Given the description of an element on the screen output the (x, y) to click on. 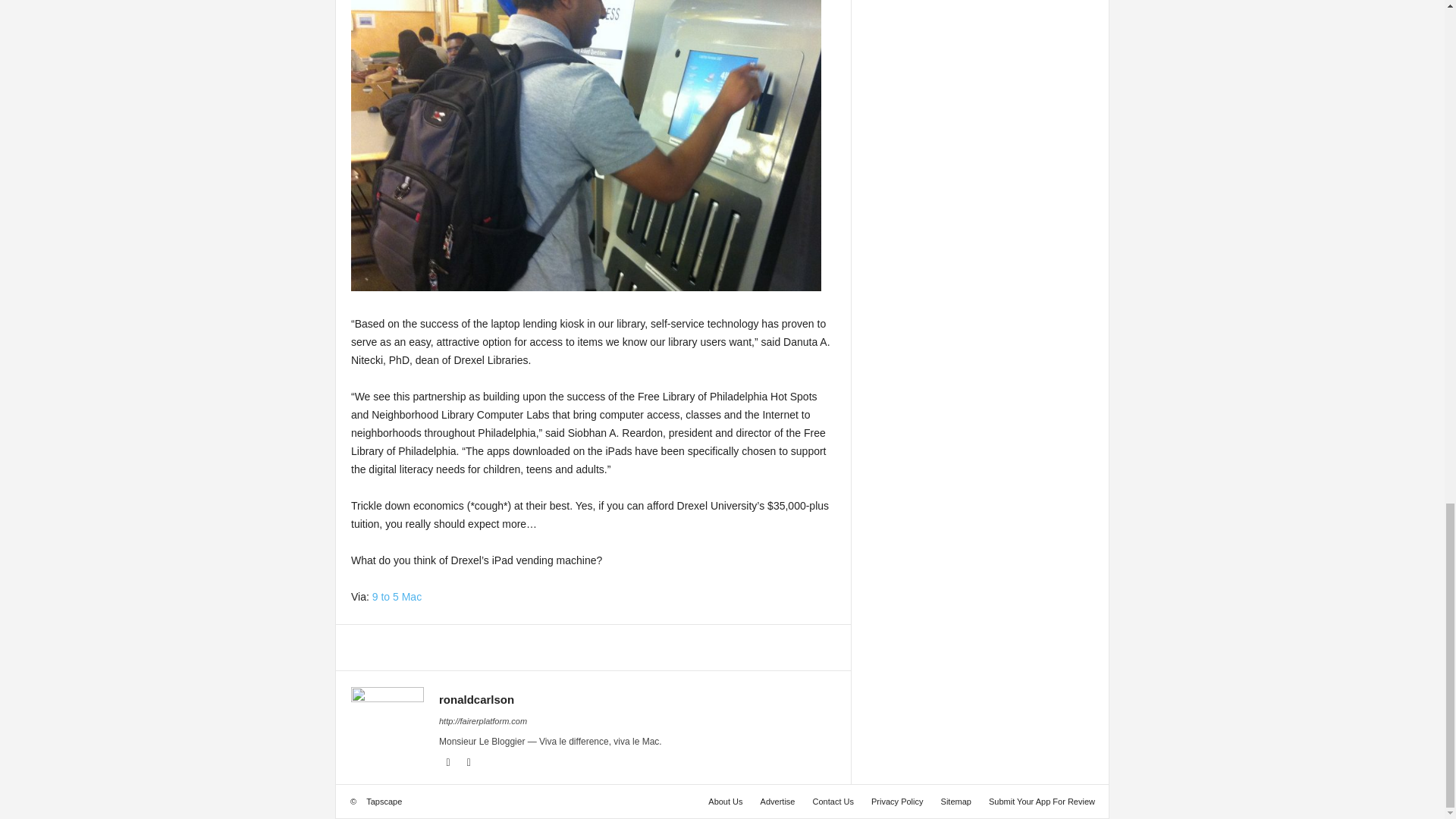
Twitter (468, 762)
